Given the description of an element on the screen output the (x, y) to click on. 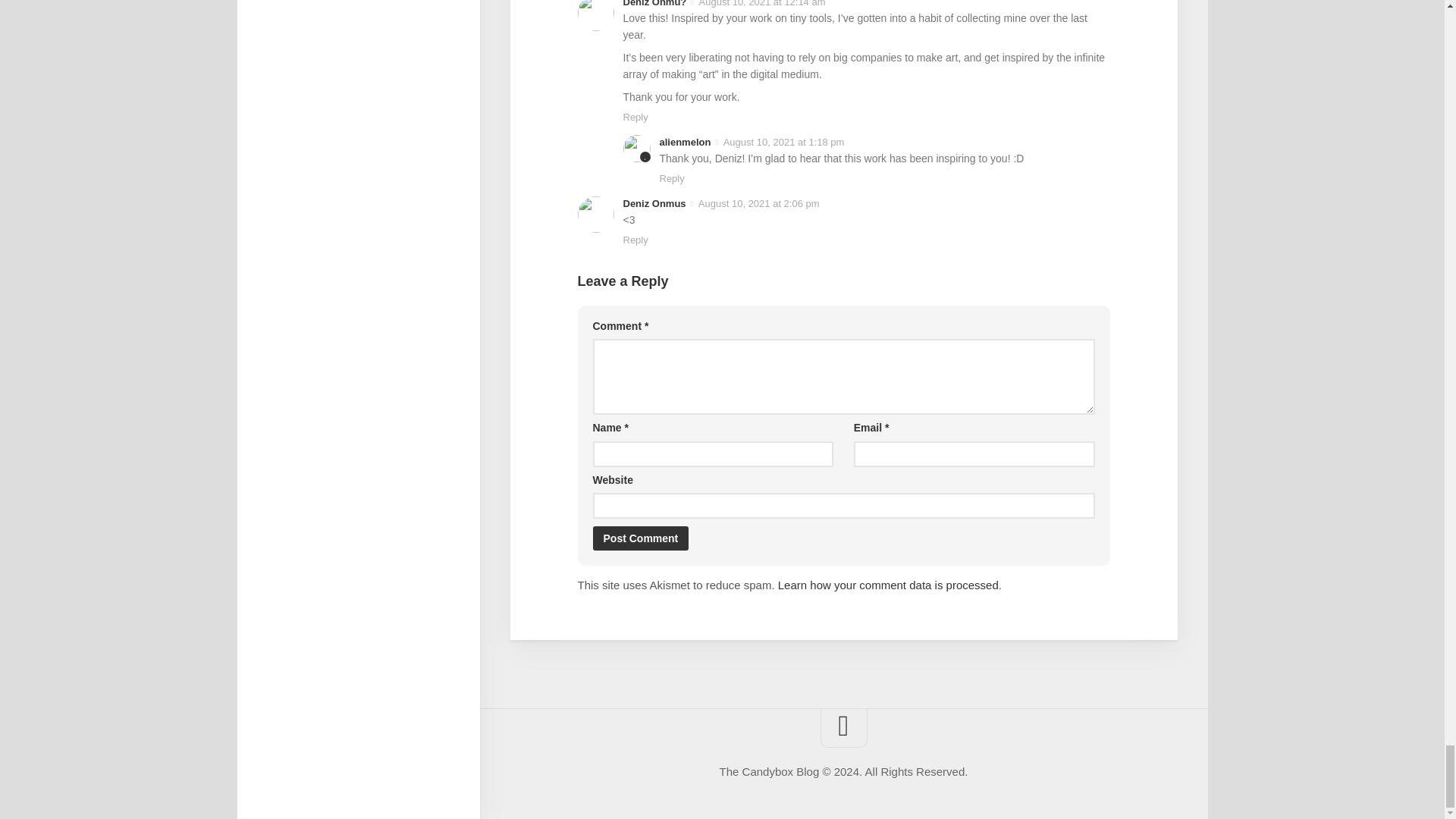
Post Comment (640, 538)
